Given the description of an element on the screen output the (x, y) to click on. 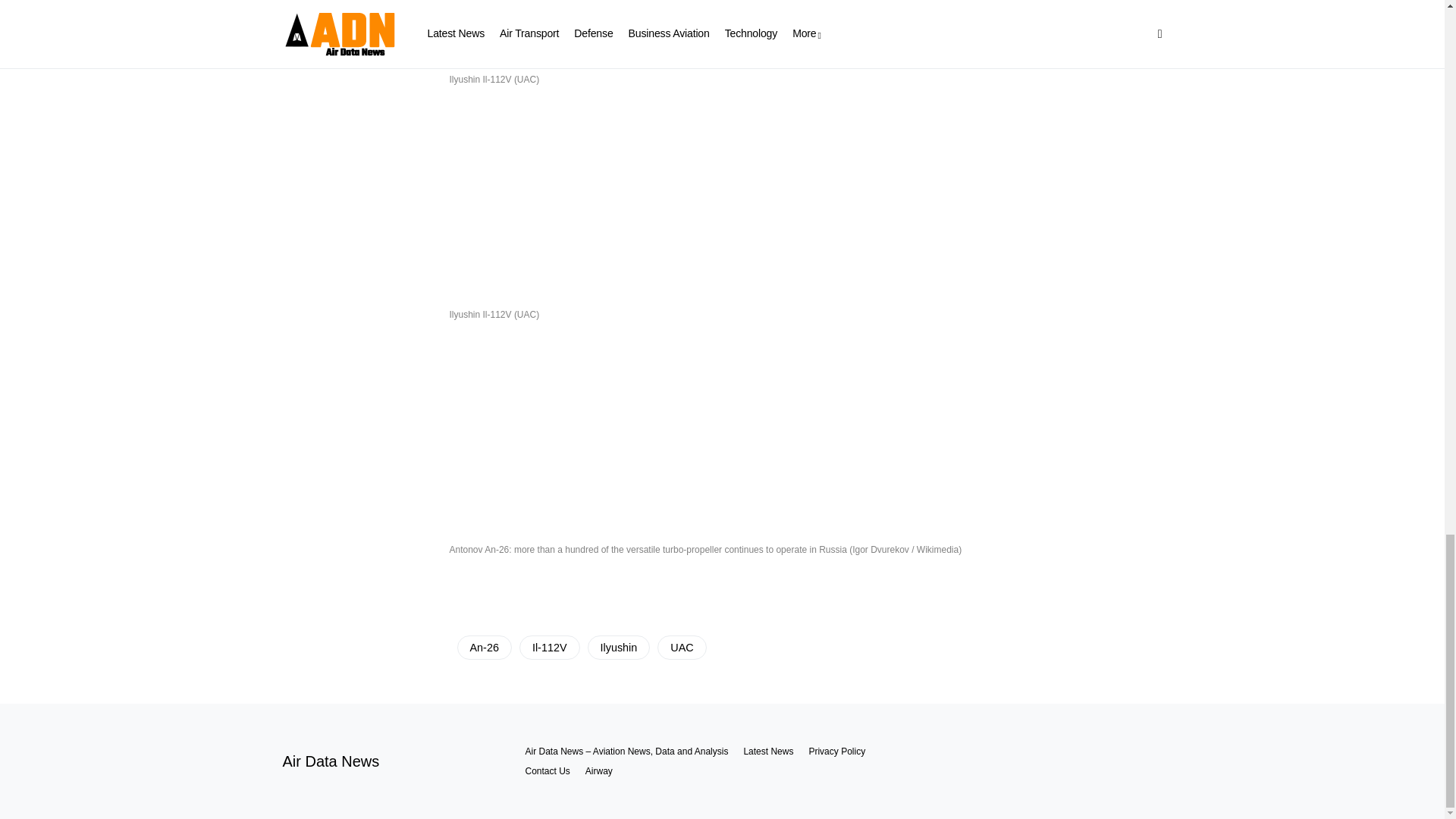
Air Data News (330, 761)
An-26 (484, 647)
UAC (682, 647)
Il-112V (549, 647)
Ilyushin (619, 647)
Latest News (767, 751)
